Given the description of an element on the screen output the (x, y) to click on. 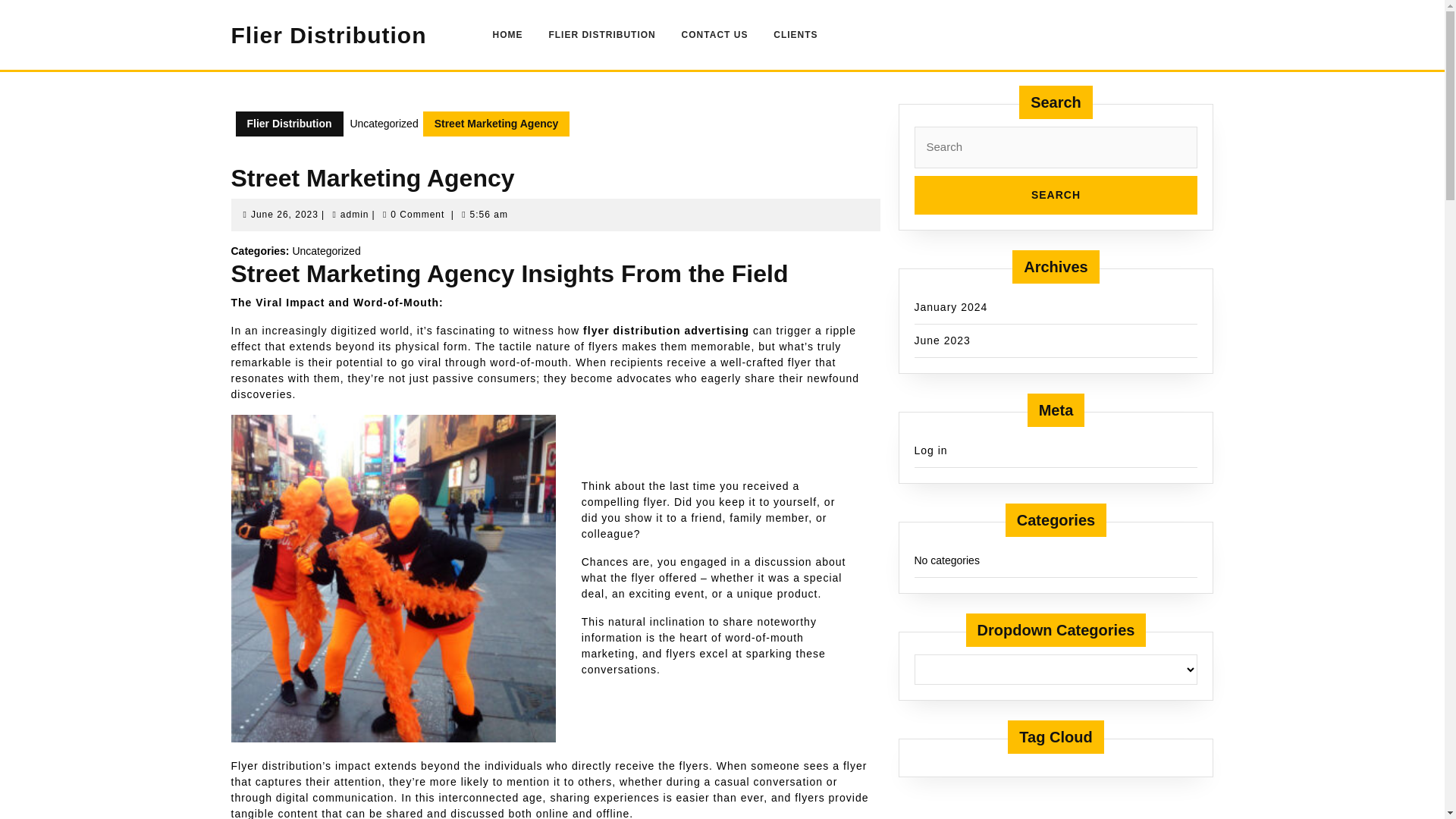
Flier Distribution (328, 34)
CONTACT US (354, 214)
Search (284, 214)
Flier Distribution (714, 34)
Search (1056, 195)
Search (288, 123)
HOME (1056, 195)
CLIENTS (1056, 195)
